Given the description of an element on the screen output the (x, y) to click on. 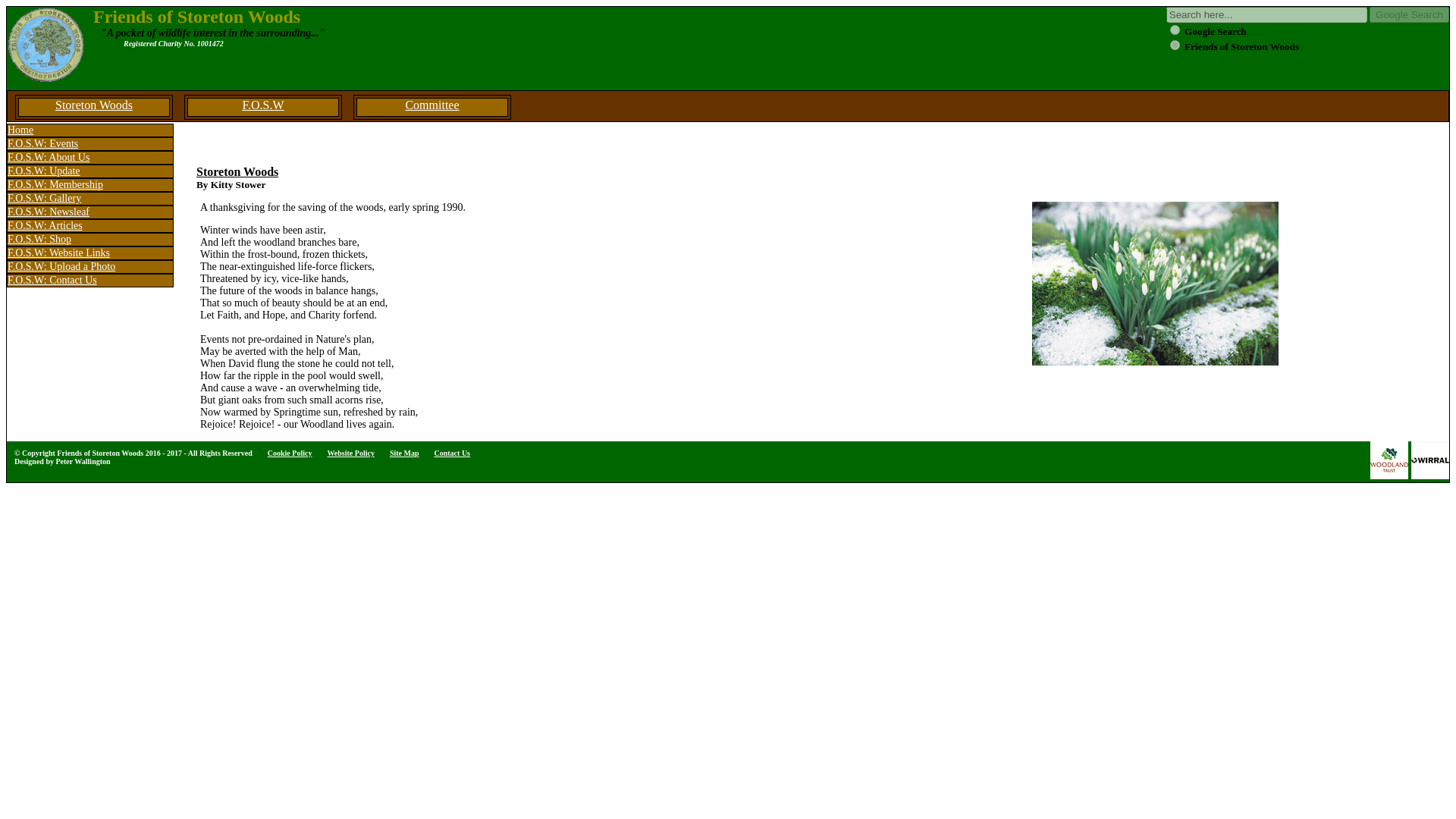
F.O.S.W: Membership (90, 184)
Website Policy (350, 452)
F.O.S.W: Shop (90, 239)
F.O.S.W (263, 107)
Friends of Storeton Woods: Membership (90, 184)
Committee (432, 107)
Site Map (404, 452)
Storeton Woods (93, 107)
F.O.S.W: Update (90, 171)
Friends of Storeton Woods: Events (90, 143)
Friends of Storeton Woods: Gallery (90, 198)
Friends of Storeton Woods: About Us (90, 157)
Friends of Storeton Woods: Articles (90, 225)
F.O.S.W: Events (90, 143)
Friends of Storeton Woods: Update (90, 171)
